Given the description of an element on the screen output the (x, y) to click on. 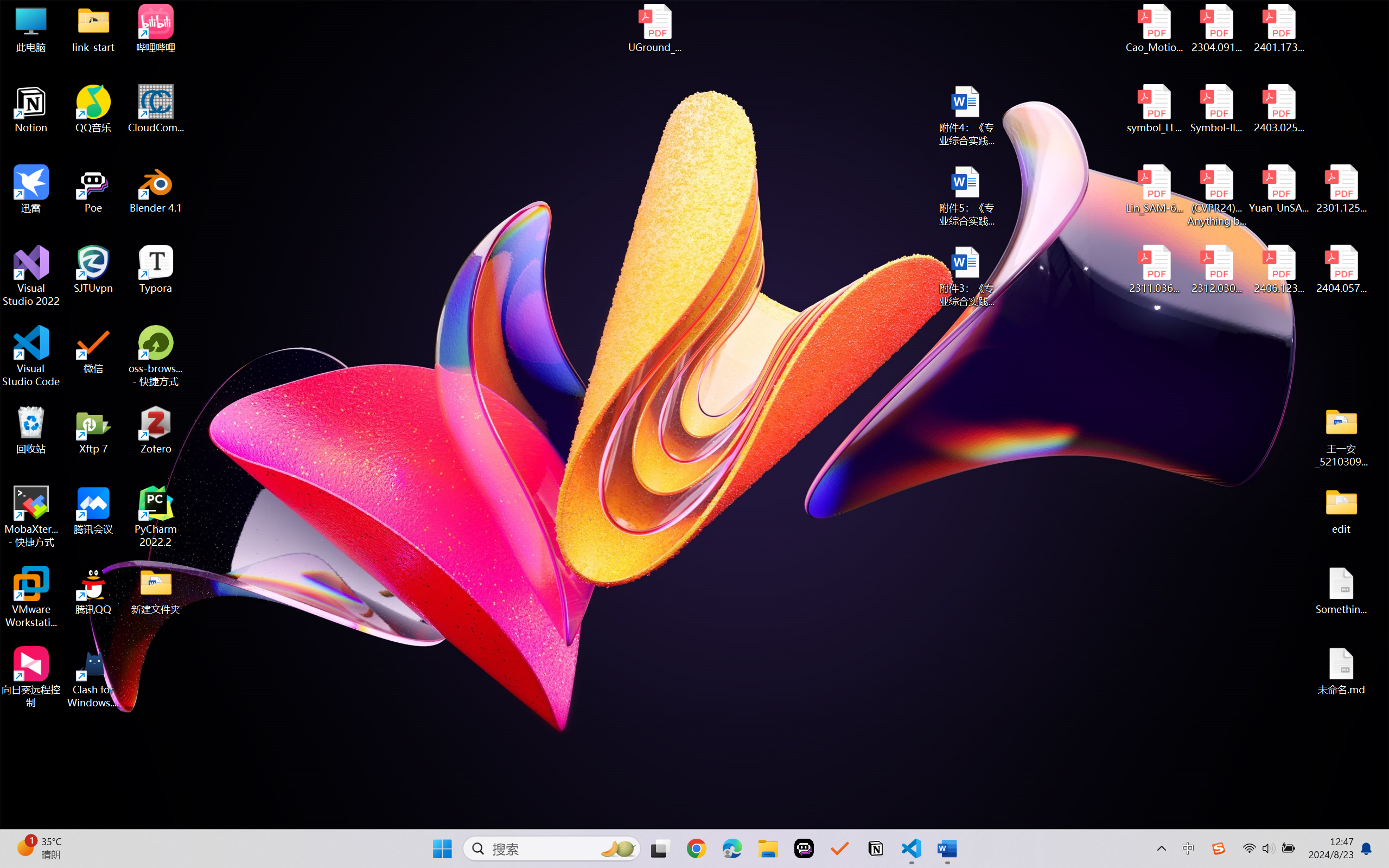
2311.03658v2.pdf (1154, 269)
PyCharm 2022.2 (156, 516)
2401.17399v1.pdf (1278, 28)
